Given the description of an element on the screen output the (x, y) to click on. 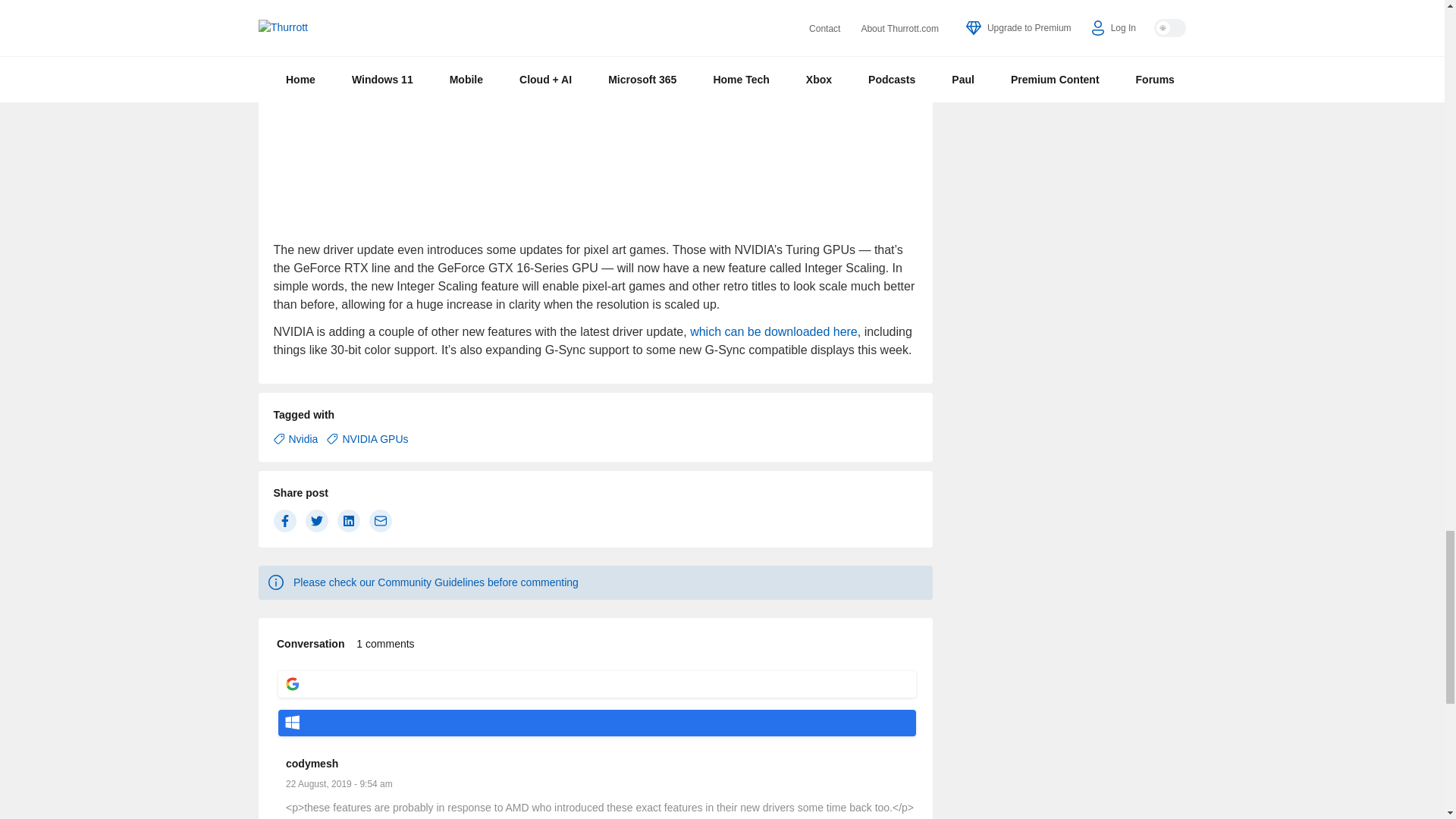
Login with Google (596, 683)
Login with Microsoft (596, 723)
